Given the description of an element on the screen output the (x, y) to click on. 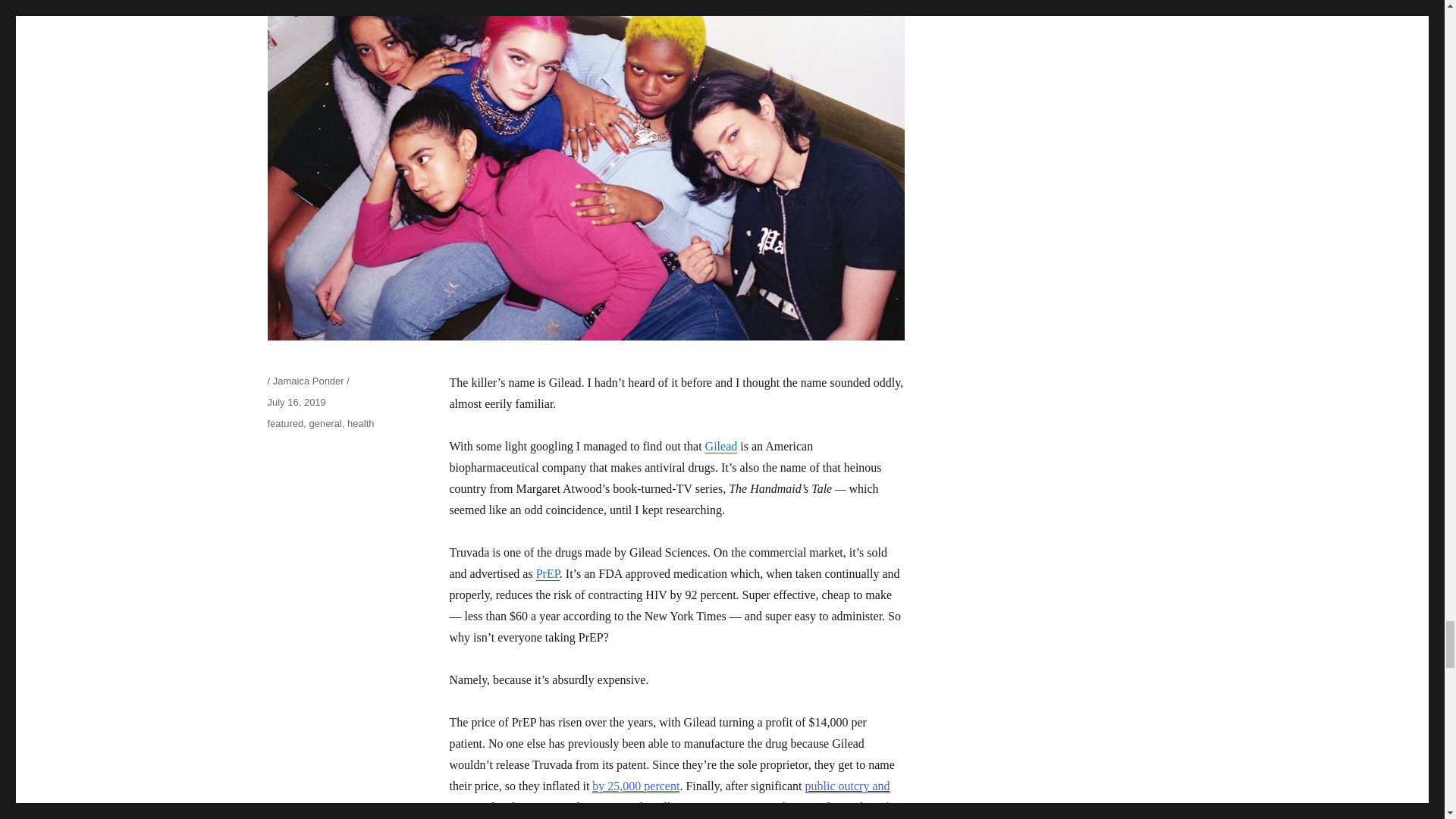
Gilead (721, 445)
PrEP (547, 573)
but only by one company and in 2020 (674, 809)
public outcry and protest (668, 796)
by 25,000 percent (635, 785)
